Given the description of an element on the screen output the (x, y) to click on. 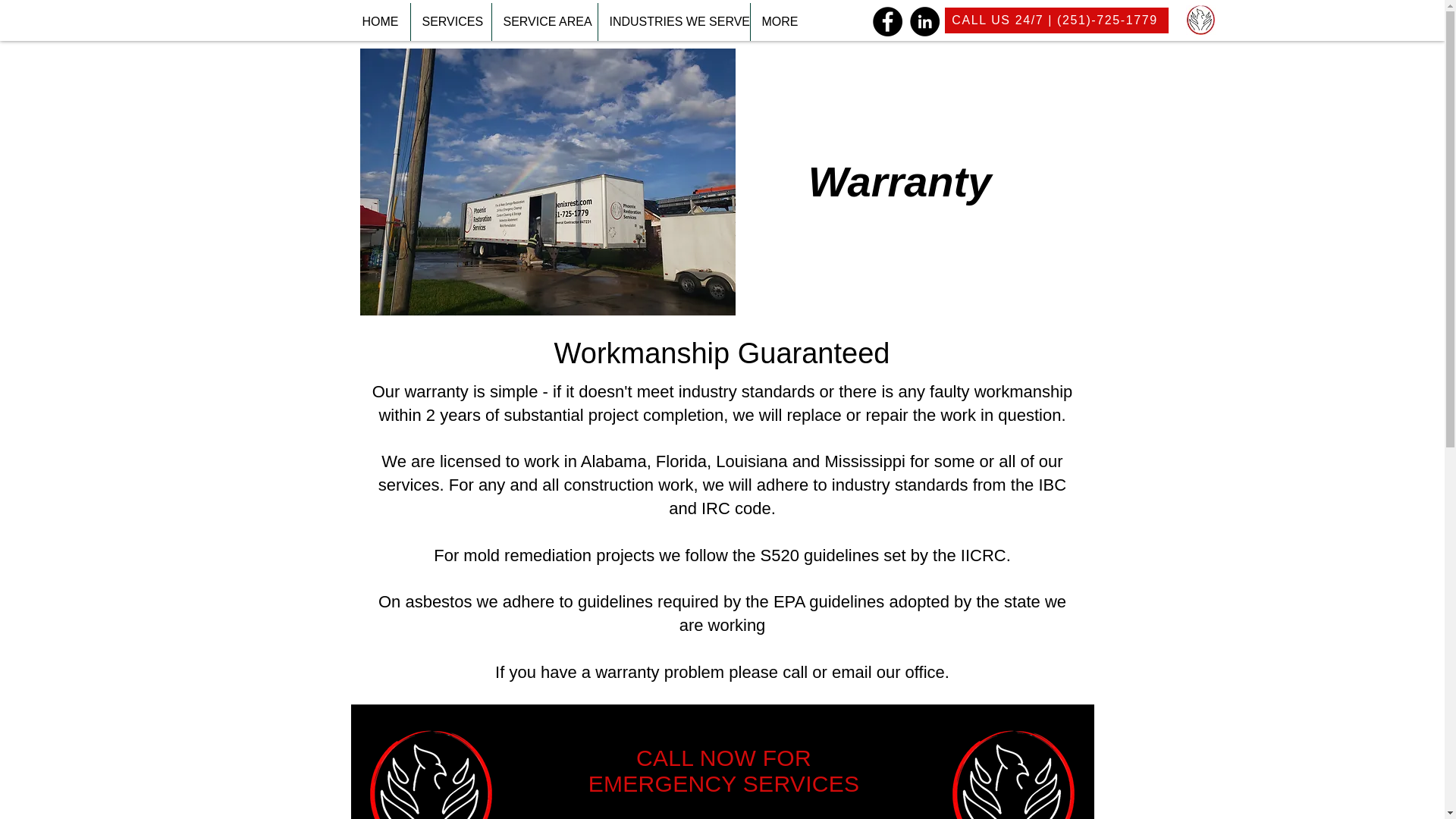
HOME (379, 21)
Phoenix Restoration Servics (1200, 19)
